Given the description of an element on the screen output the (x, y) to click on. 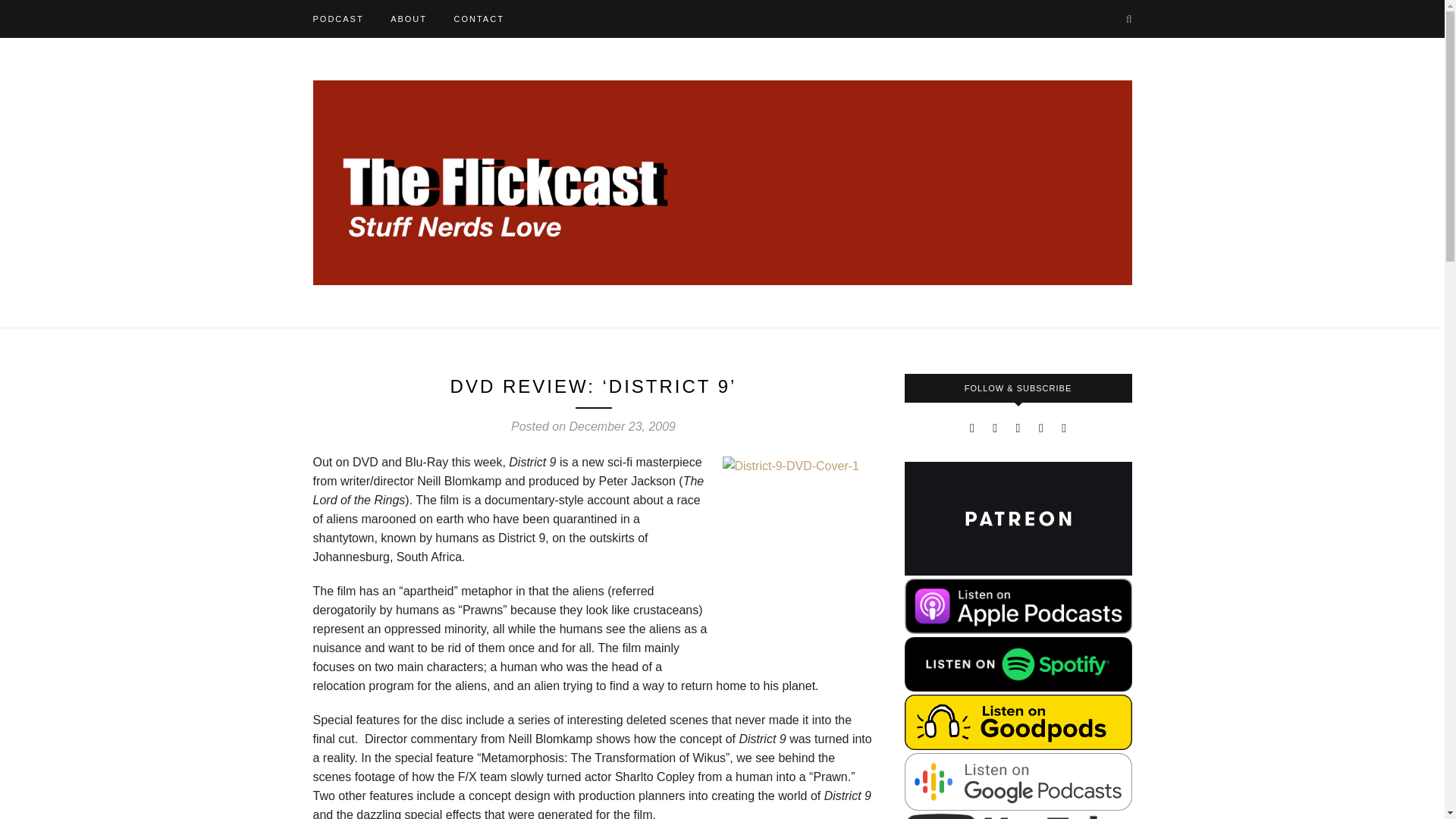
CONTACT (477, 18)
District-9-DVD-Cover-1 (797, 553)
ABOUT (408, 18)
PODCAST (337, 18)
